Given the description of an element on the screen output the (x, y) to click on. 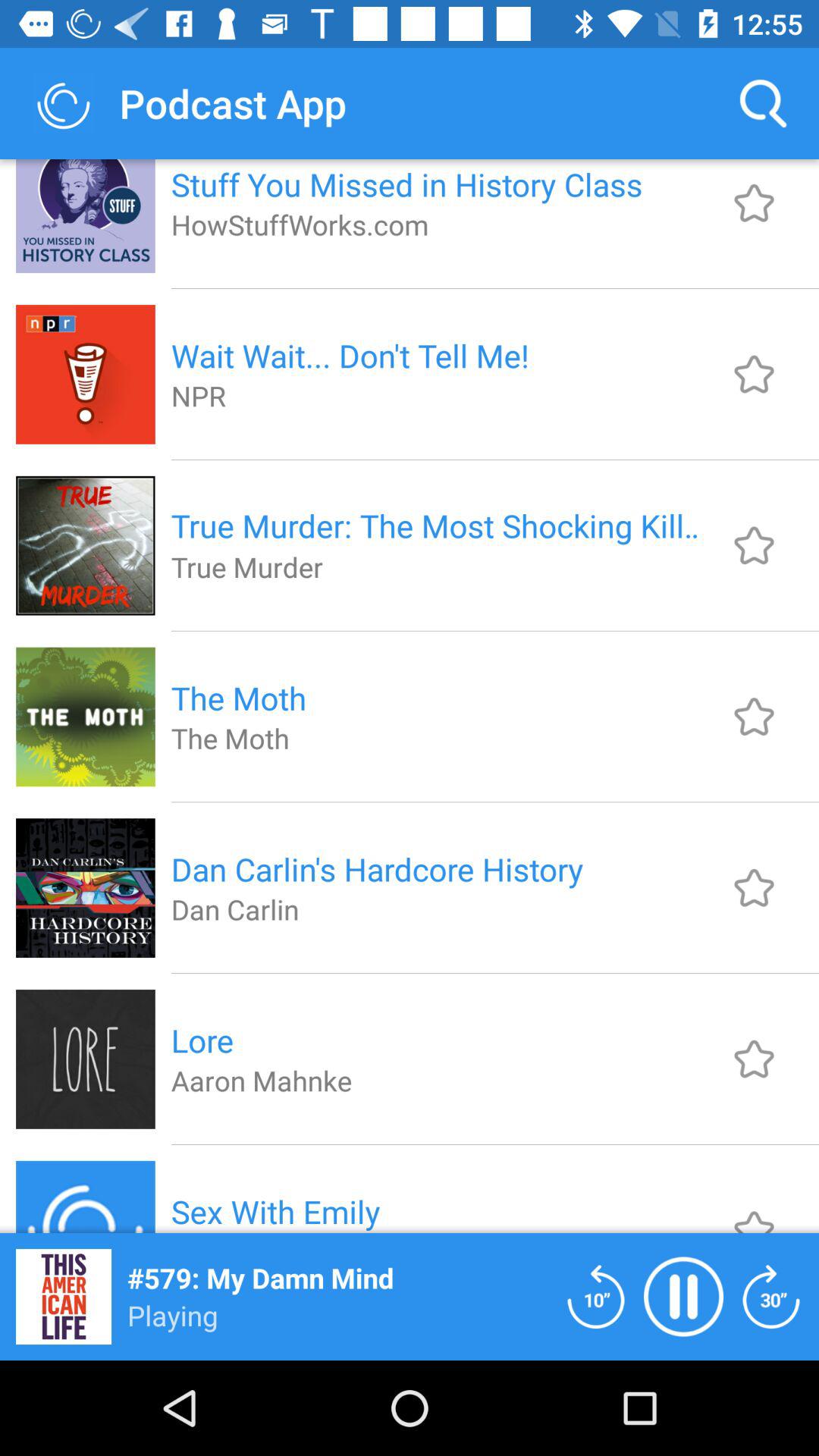
add a bookmark to favourite podcasts (754, 203)
